Given the description of an element on the screen output the (x, y) to click on. 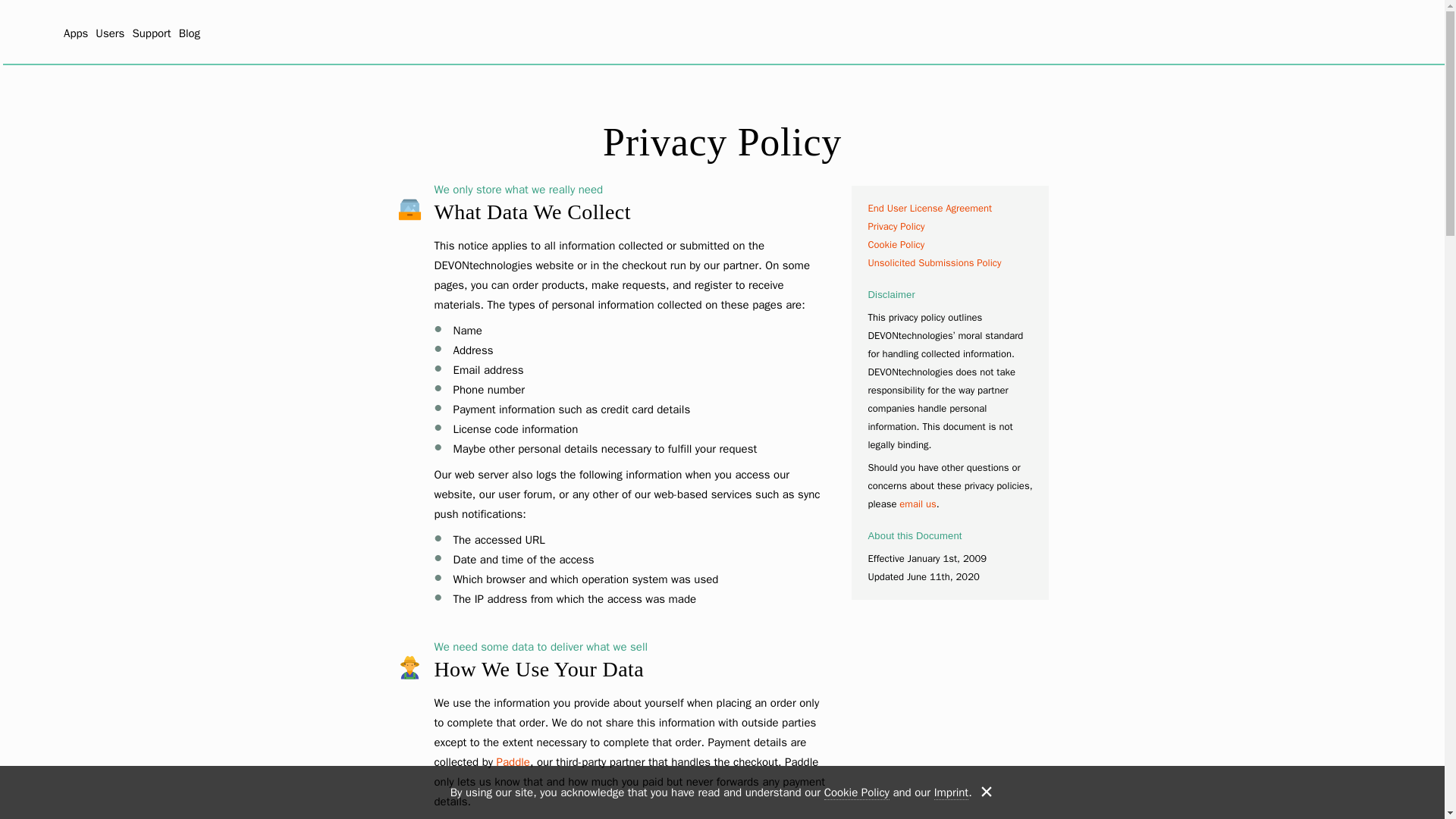
End User License Agreement (929, 207)
email us (917, 503)
Paddle (512, 762)
Blog (189, 33)
Unsolicited Submissions Policy (934, 262)
Privacy Policy (895, 226)
Cookie Policy (895, 244)
